Given the description of an element on the screen output the (x, y) to click on. 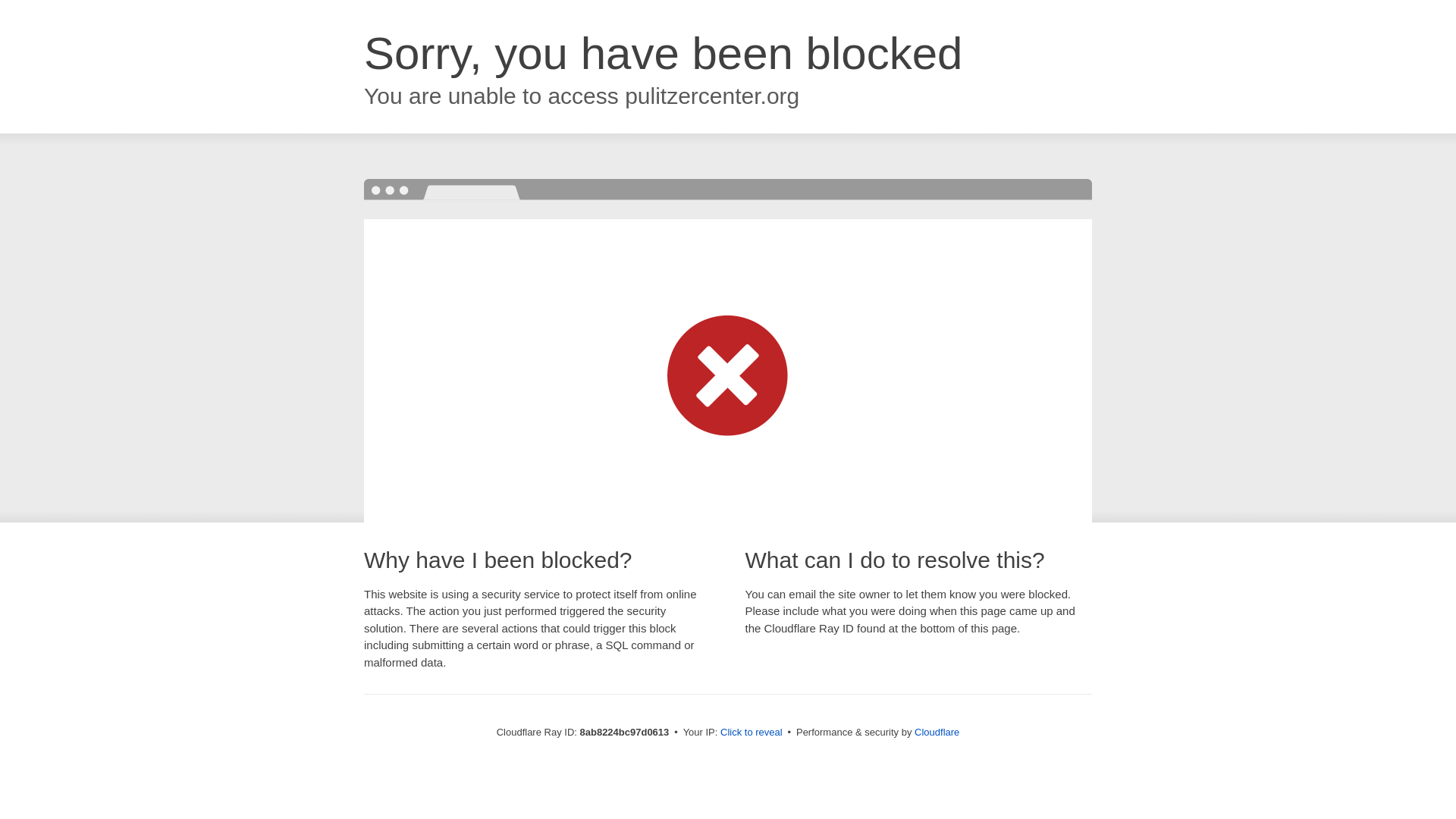
Cloudflare (936, 731)
Click to reveal (751, 732)
